Given the description of an element on the screen output the (x, y) to click on. 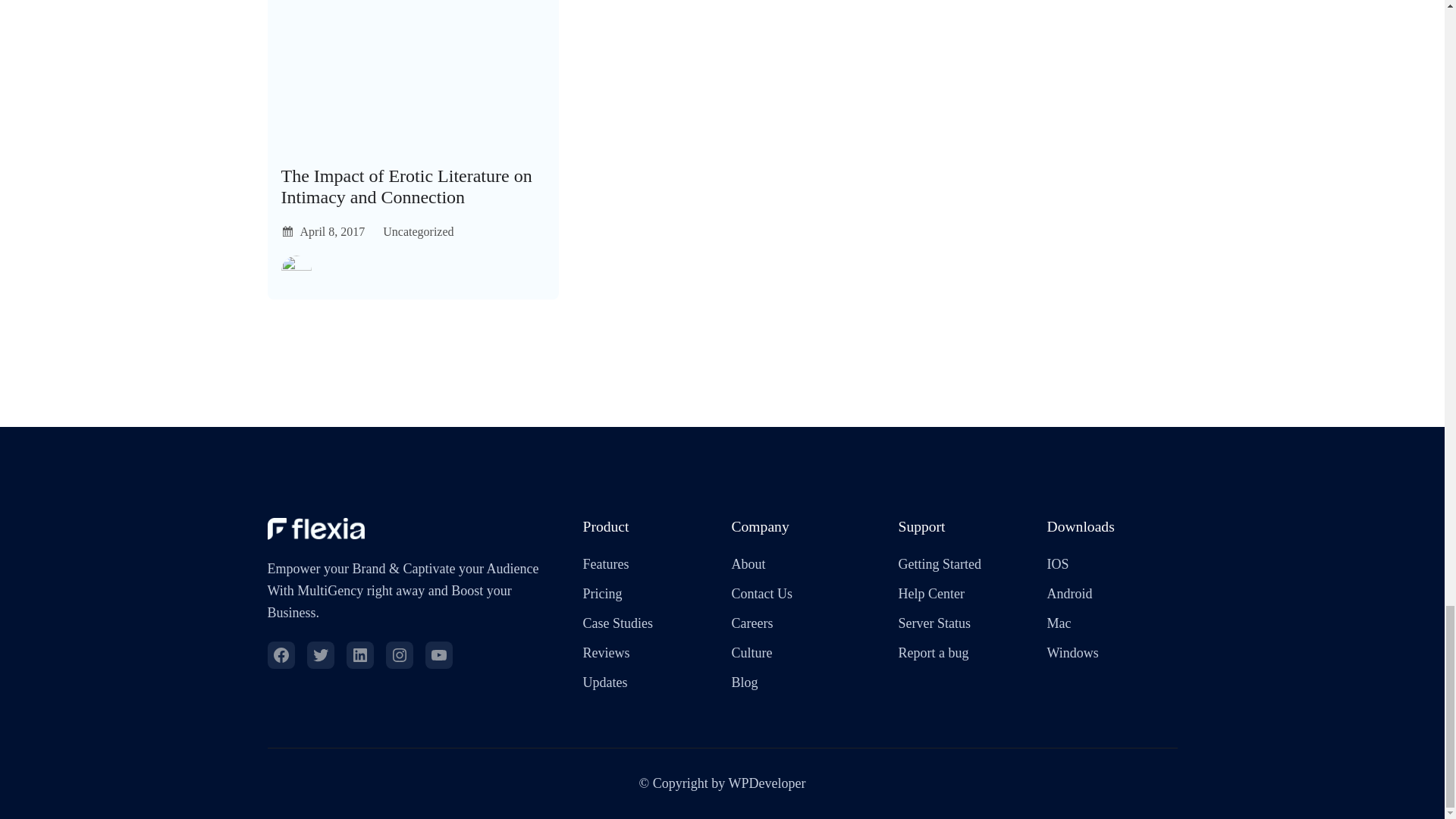
Uncategorized (417, 231)
Reviews (605, 653)
Contact Us (761, 594)
LinkedIn (359, 655)
Careers (751, 623)
Case Studies (617, 623)
Features (605, 564)
Updates (604, 682)
The Impact of Erotic Literature on Intimacy and Connection (412, 187)
Twitter (319, 655)
Getting Started (938, 564)
Blog (743, 682)
Culture (750, 653)
About (747, 564)
fb (280, 655)
